Given the description of an element on the screen output the (x, y) to click on. 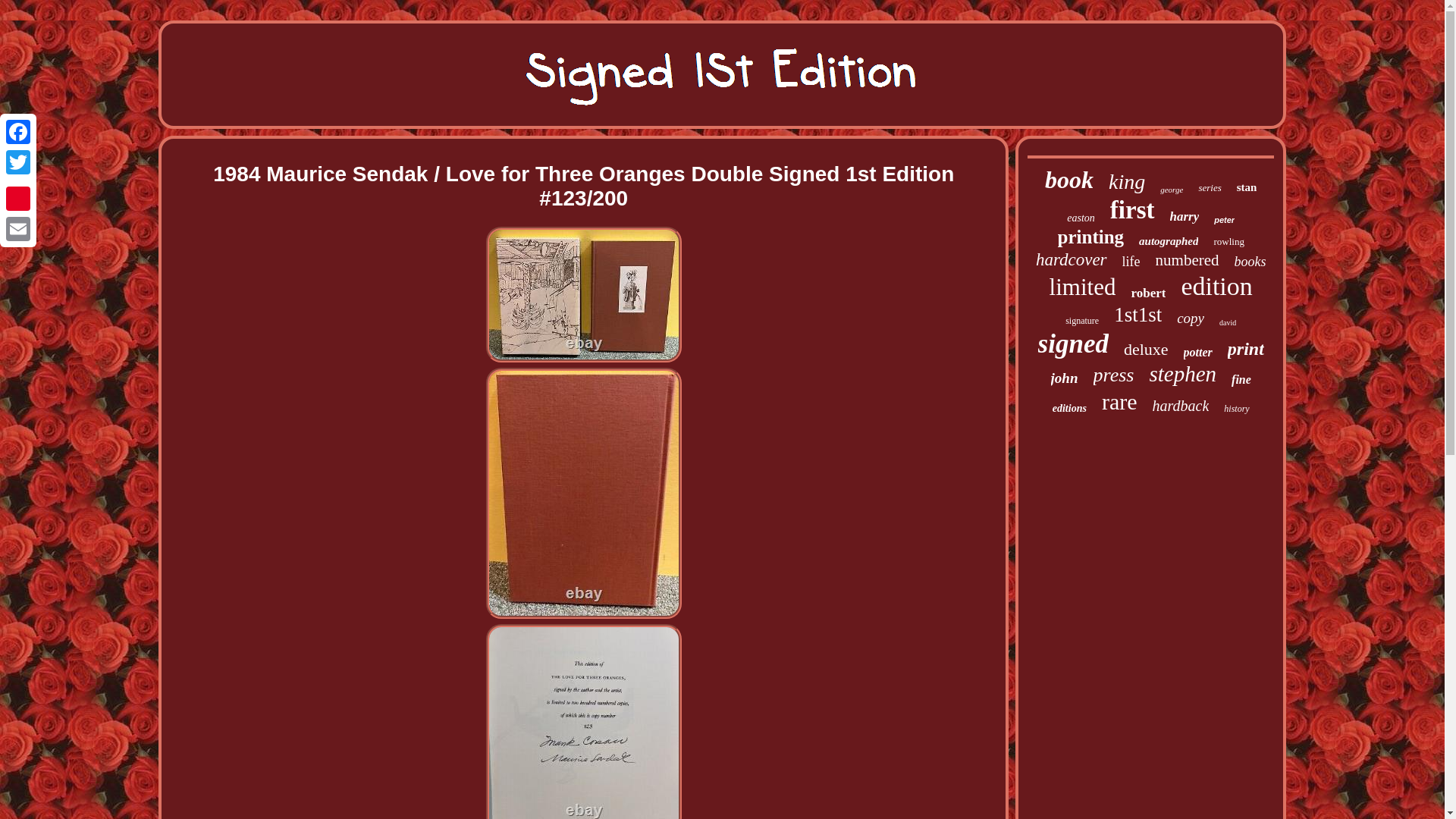
Facebook (17, 132)
autographed (1168, 241)
stan (1246, 187)
king (1126, 181)
series (1209, 187)
robert (1148, 293)
numbered (1188, 260)
peter (1224, 219)
david (1228, 322)
life (1131, 261)
potter (1197, 352)
john (1064, 378)
limited (1082, 287)
books (1250, 261)
Pinterest (17, 198)
